Given the description of an element on the screen output the (x, y) to click on. 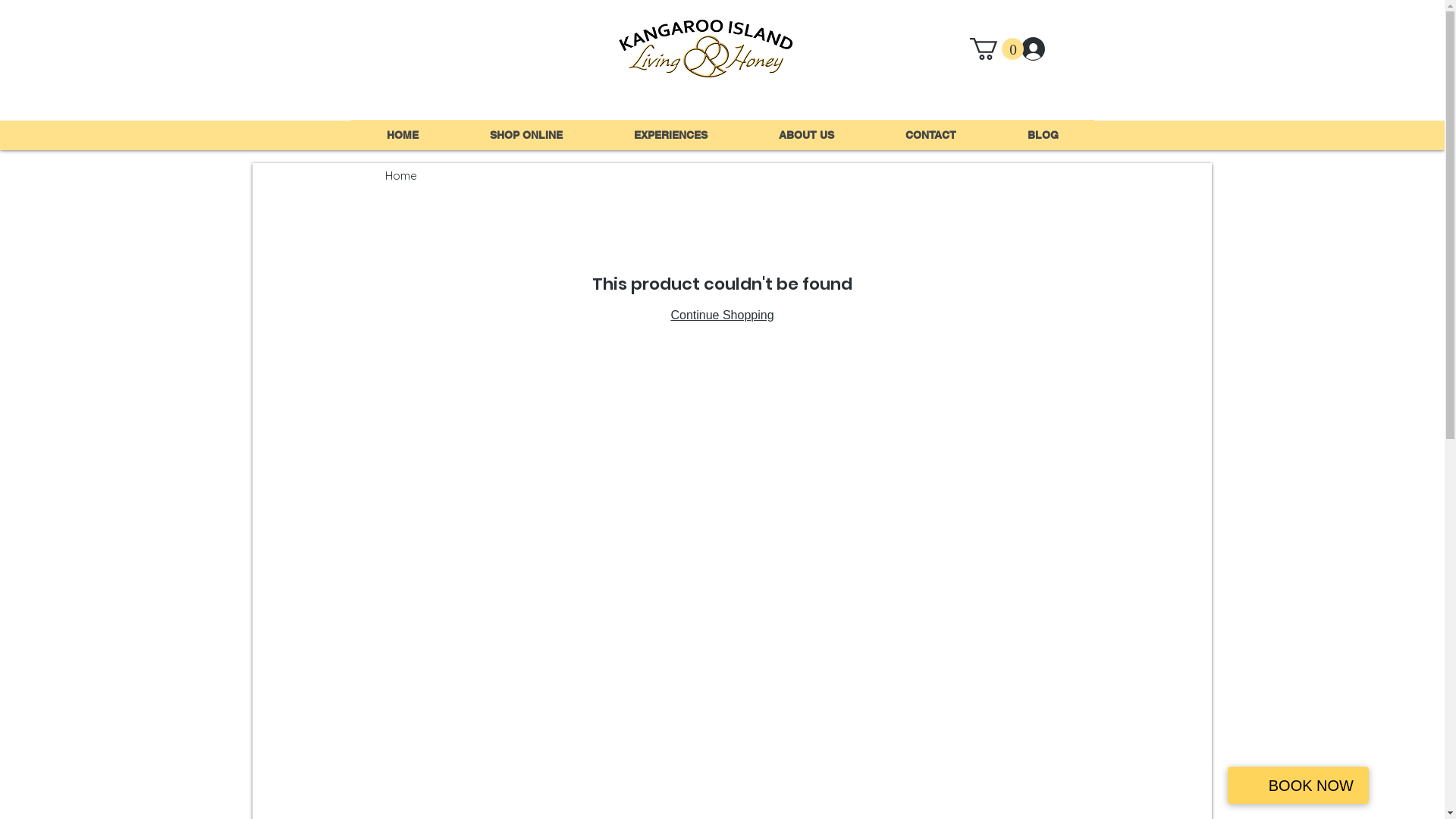
EXPERIENCES Element type: text (669, 134)
Continue Shopping Element type: text (721, 314)
ABOUT US Element type: text (806, 134)
CONTACT Element type: text (930, 134)
BLOG Element type: text (1042, 134)
Log In Element type: text (1051, 47)
0 Element type: text (995, 48)
BOOK NOW Element type: text (1297, 784)
HOME Element type: text (401, 134)
Home Element type: text (401, 175)
SHOP ONLINE Element type: text (525, 134)
